Given the description of an element on the screen output the (x, y) to click on. 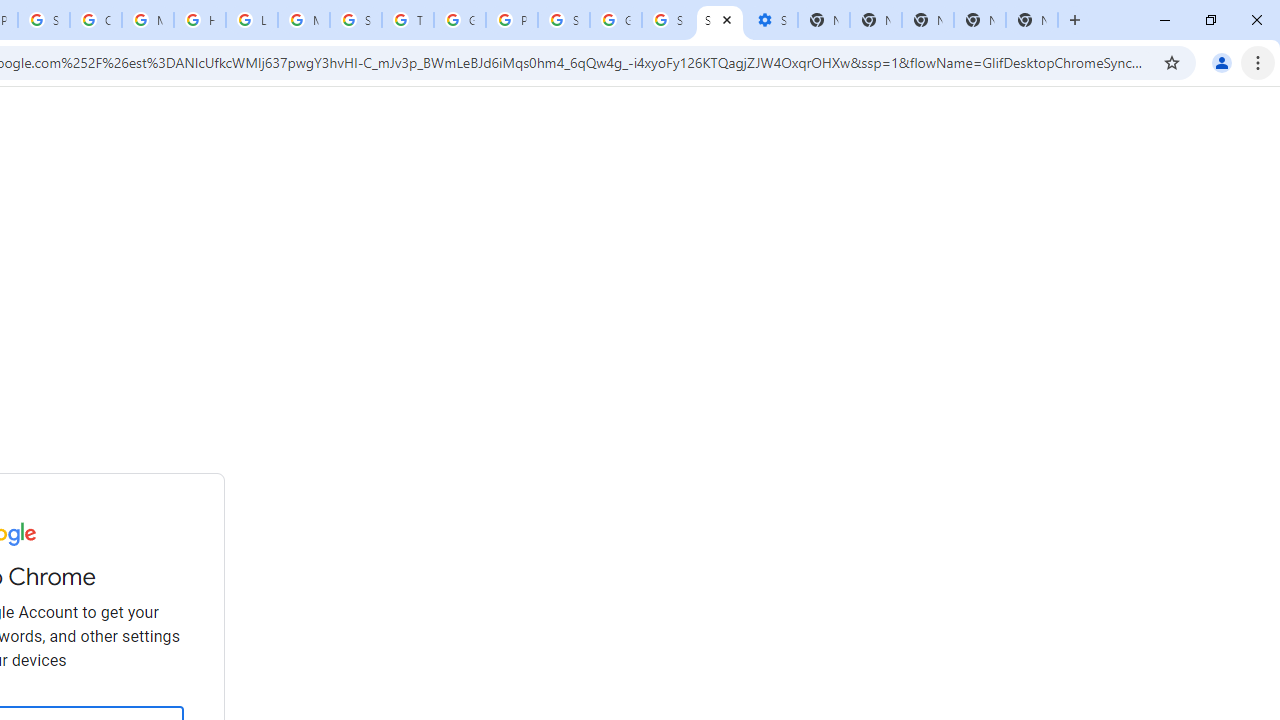
New Tab (1032, 20)
Trusted Information and Content - Google Safety Center (407, 20)
Google Cybersecurity Innovations - Google Safety Center (616, 20)
Sign in - Google Accounts (719, 20)
Google Ads - Sign in (459, 20)
Settings - Performance (771, 20)
